Given the description of an element on the screen output the (x, y) to click on. 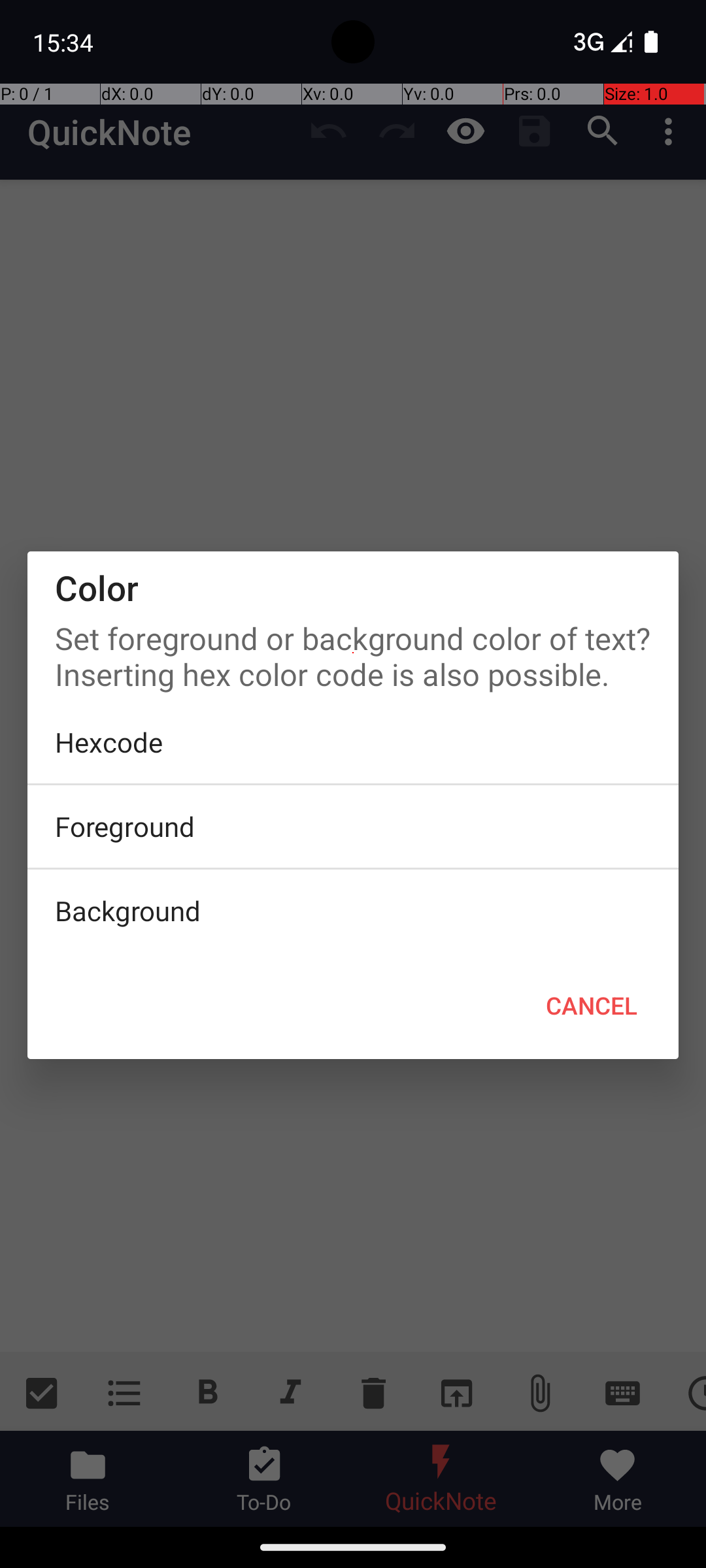
Color Element type: android.widget.TextView (352, 587)
Set foreground or background color of text? Inserting hex color code is also possible. Element type: android.widget.TextView (352, 652)
Hexcode Element type: android.widget.TextView (352, 742)
Foreground Element type: android.widget.TextView (352, 826)
Background Element type: android.widget.TextView (352, 910)
